Given the description of an element on the screen output the (x, y) to click on. 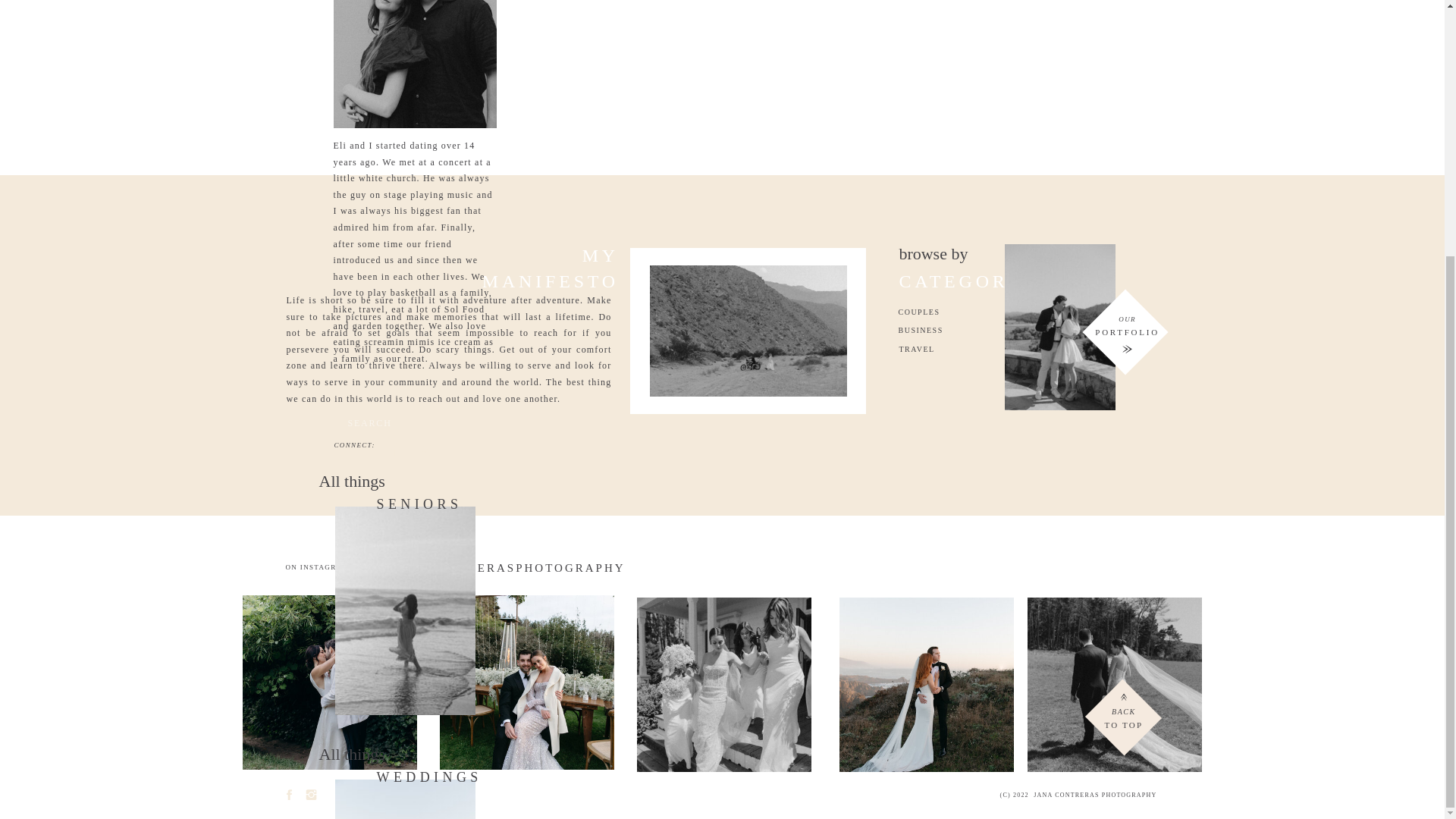
BUSINESS (951, 329)
SENIORS (437, 507)
CATEGORY (981, 290)
CONNECT: (355, 447)
WEDDINGS (437, 780)
All things (410, 484)
All things  (410, 757)
TRAVEL (952, 348)
